Given the description of an element on the screen output the (x, y) to click on. 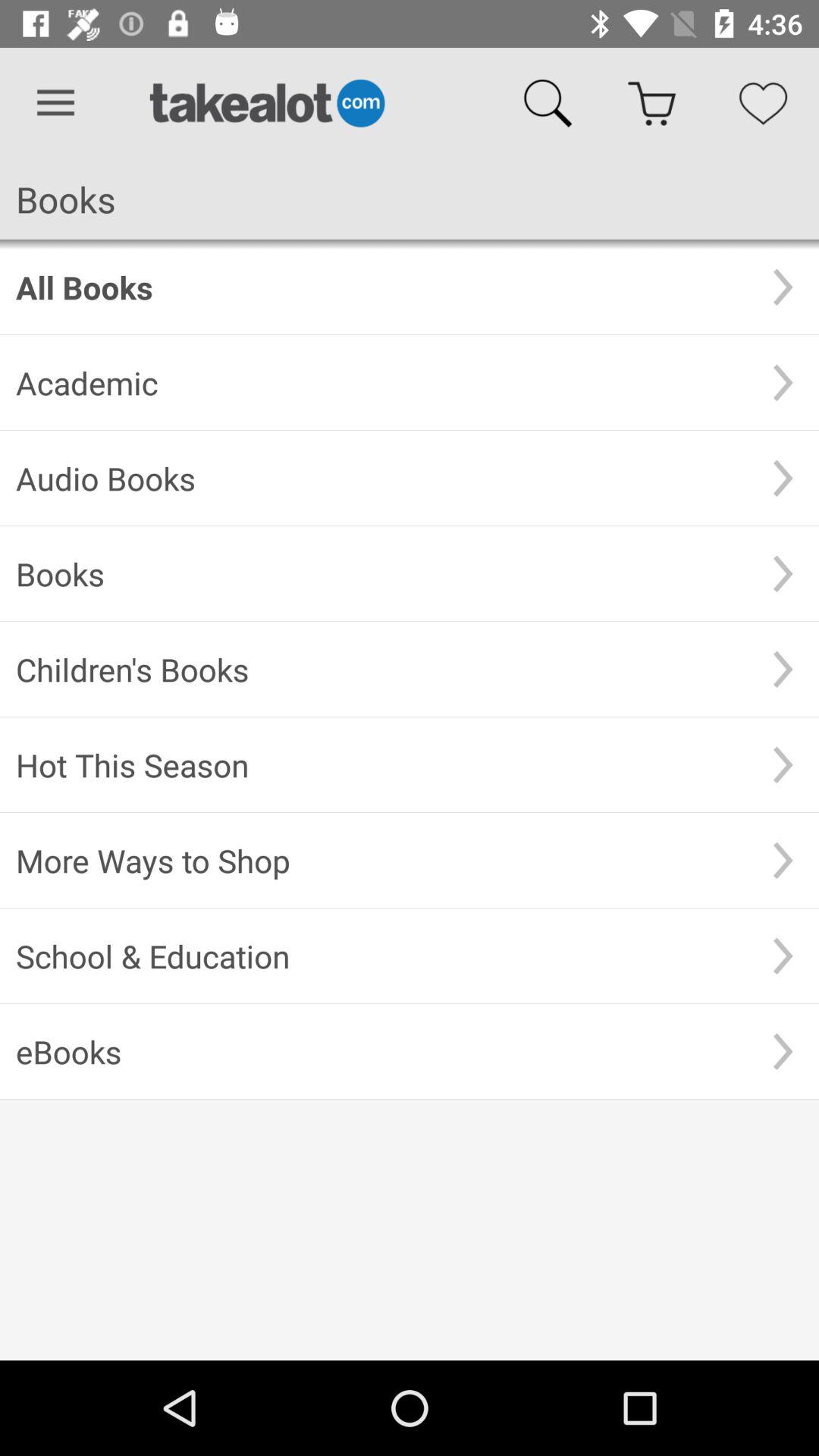
swipe to audio books icon (381, 478)
